Given the description of an element on the screen output the (x, y) to click on. 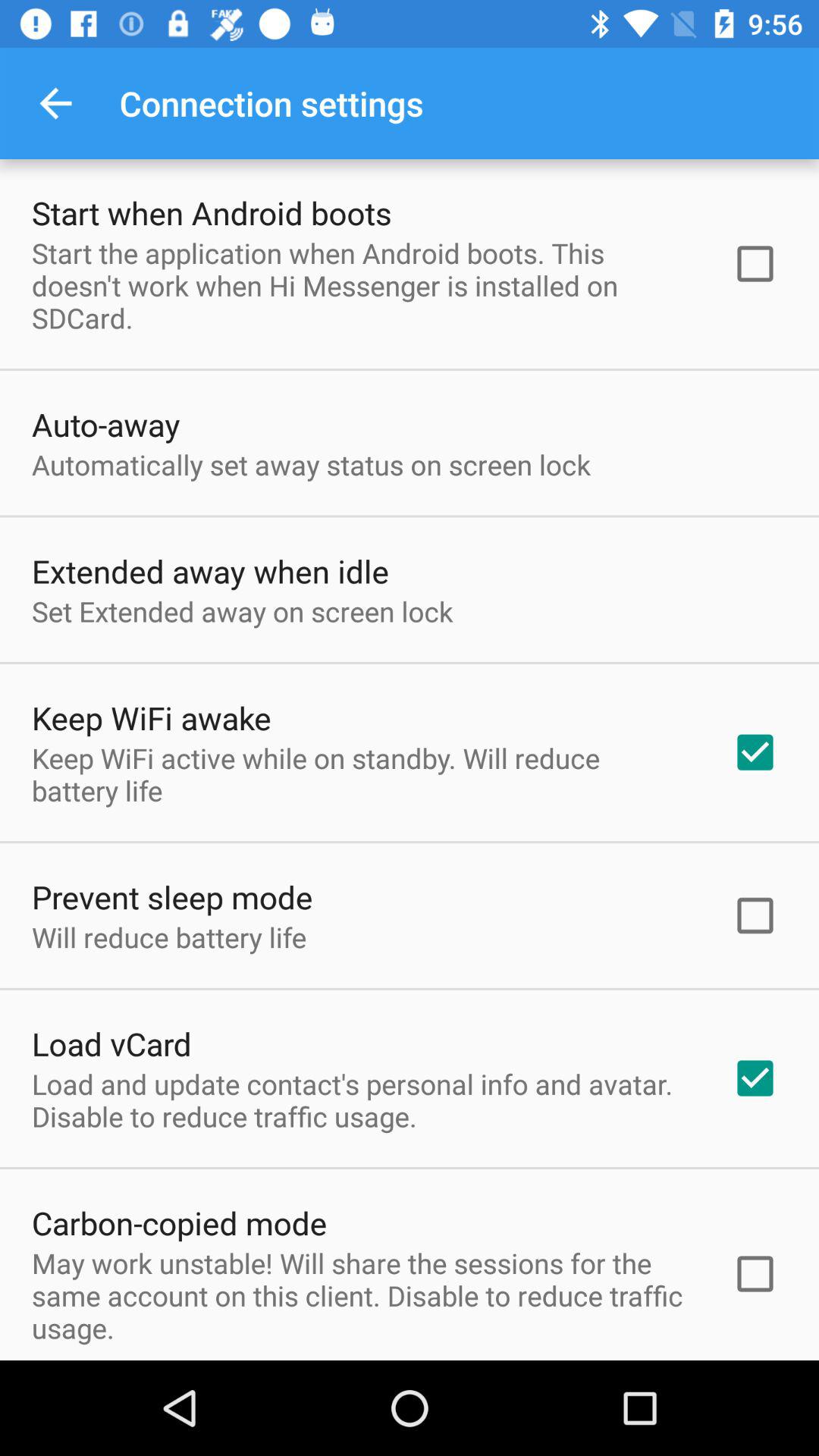
turn off the app to the left of connection settings (55, 103)
